Given the description of an element on the screen output the (x, y) to click on. 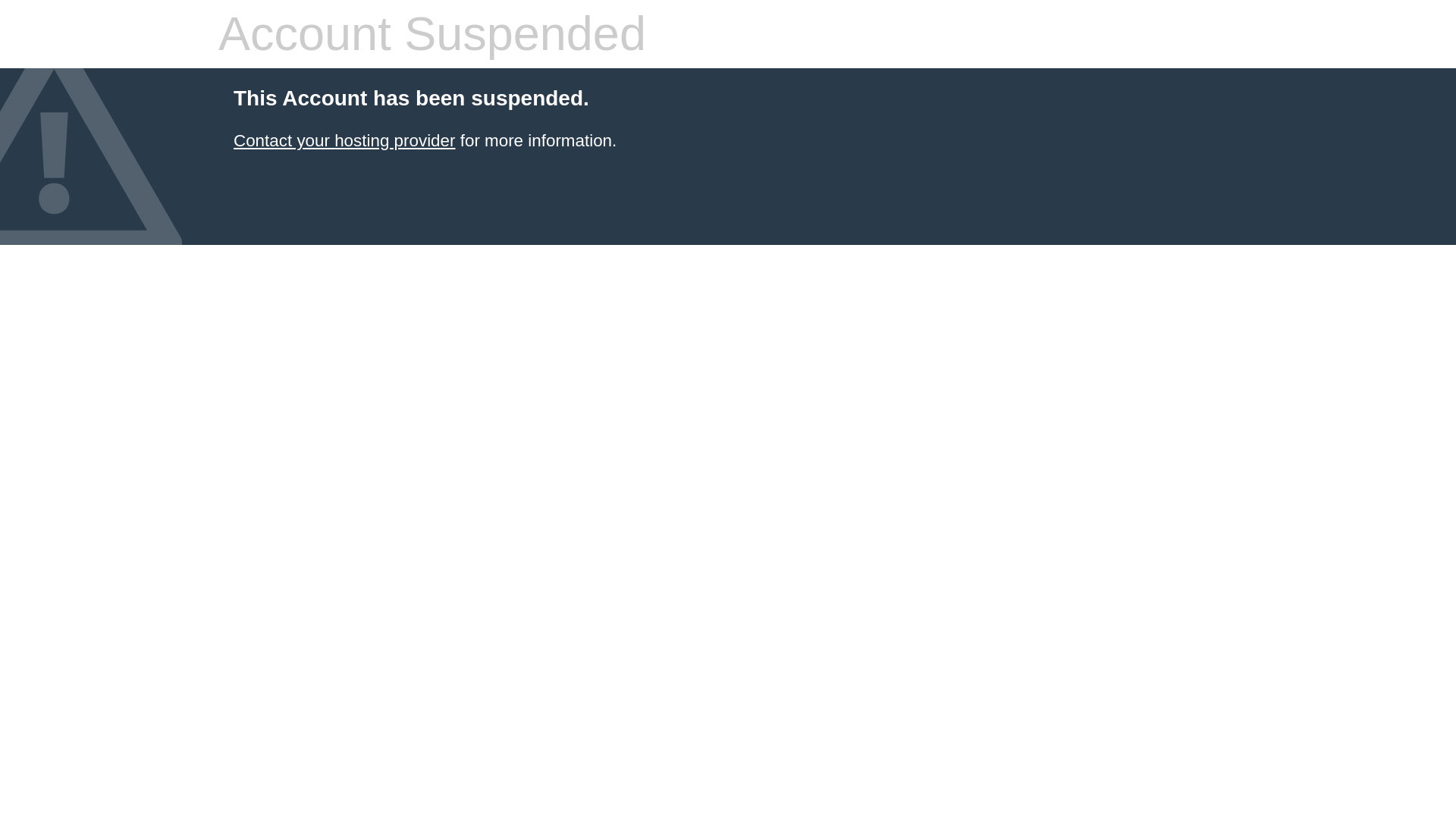
Contact your hosting provider (343, 140)
